Given the description of an element on the screen output the (x, y) to click on. 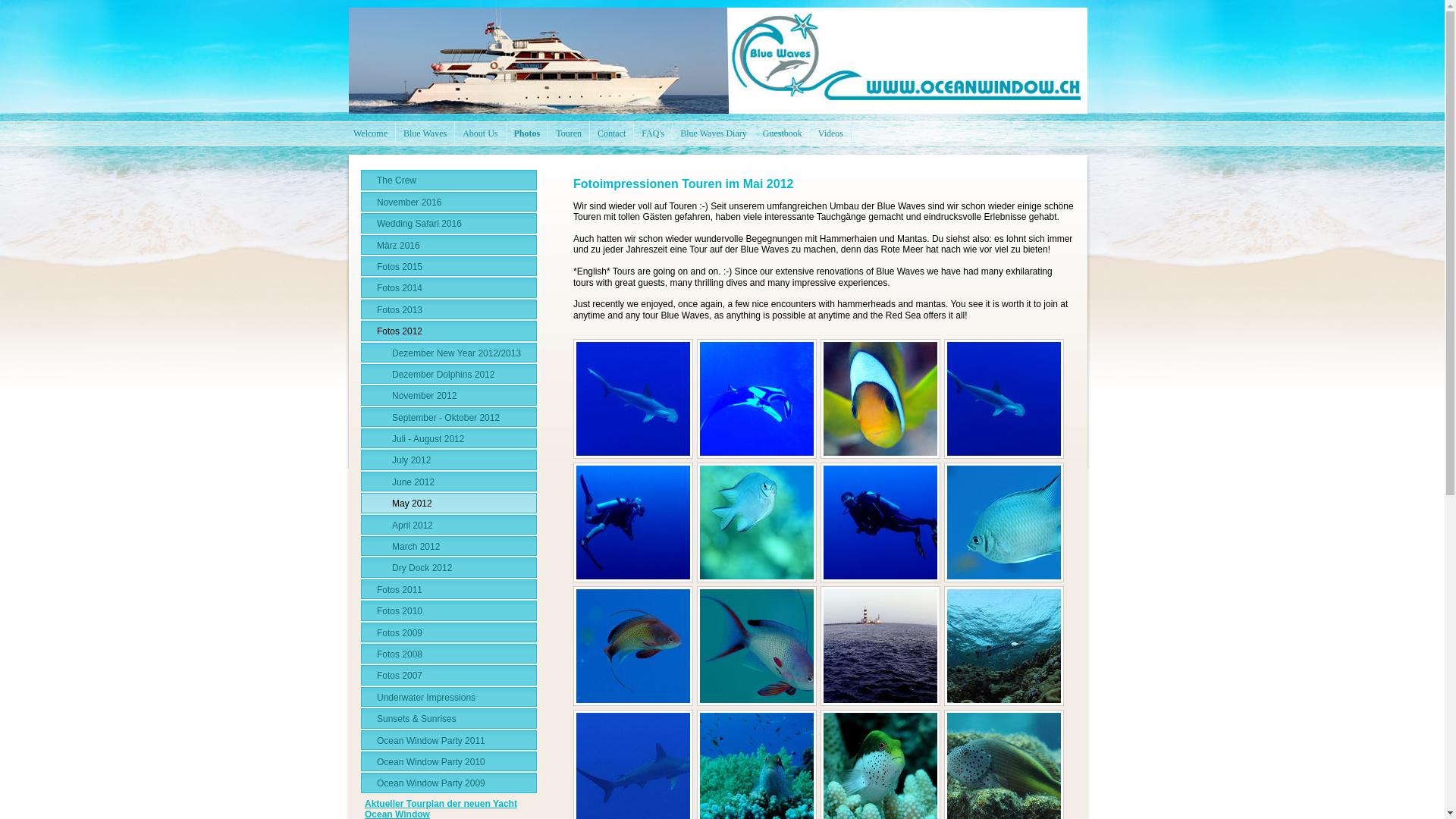
July 2012 Element type: text (448, 459)
Fotos 2008 Element type: text (448, 653)
FAQ's Element type: text (652, 133)
November 2016 Element type: text (448, 201)
Welcome Element type: text (370, 133)
Juli - August 2012 Element type: text (448, 438)
Fotos 2015 Element type: text (448, 266)
Blue Waves Element type: text (425, 133)
Fotos 2007 Element type: text (448, 674)
Ocean Window Party 2011 Element type: text (448, 739)
Ocean Window Party 2009 Element type: text (448, 782)
April 2012 Element type: text (448, 524)
About Us Element type: text (480, 133)
Ocean Window Party 2010 Element type: text (448, 761)
November 2012 Element type: text (448, 394)
Dezember Dolphins 2012 Element type: text (448, 373)
Fotos 2012 Element type: text (448, 330)
Fotos 2013 Element type: text (448, 309)
Touren Element type: text (568, 133)
Underwater Impressions Element type: text (448, 696)
March 2012 Element type: text (448, 545)
May 2012 Element type: text (448, 502)
Dry Dock 2012 Element type: text (448, 567)
Blue Waves Diary Element type: text (713, 133)
Sunsets & Sunrises Element type: text (448, 718)
Wedding Safari 2016 Element type: text (448, 222)
Photos Element type: text (527, 133)
June 2012 Element type: text (448, 481)
Fotos 2011 Element type: text (448, 589)
Fotos 2014 Element type: text (448, 287)
The Crew Element type: text (448, 179)
Dezember New Year 2012/2013 Element type: text (448, 352)
Guestbook Element type: text (782, 133)
September - Oktober 2012 Element type: text (448, 416)
Fotos 2009 Element type: text (448, 632)
Videos Element type: text (830, 133)
Contact Element type: text (611, 133)
Fotos 2010 Element type: text (448, 610)
